Given the description of an element on the screen output the (x, y) to click on. 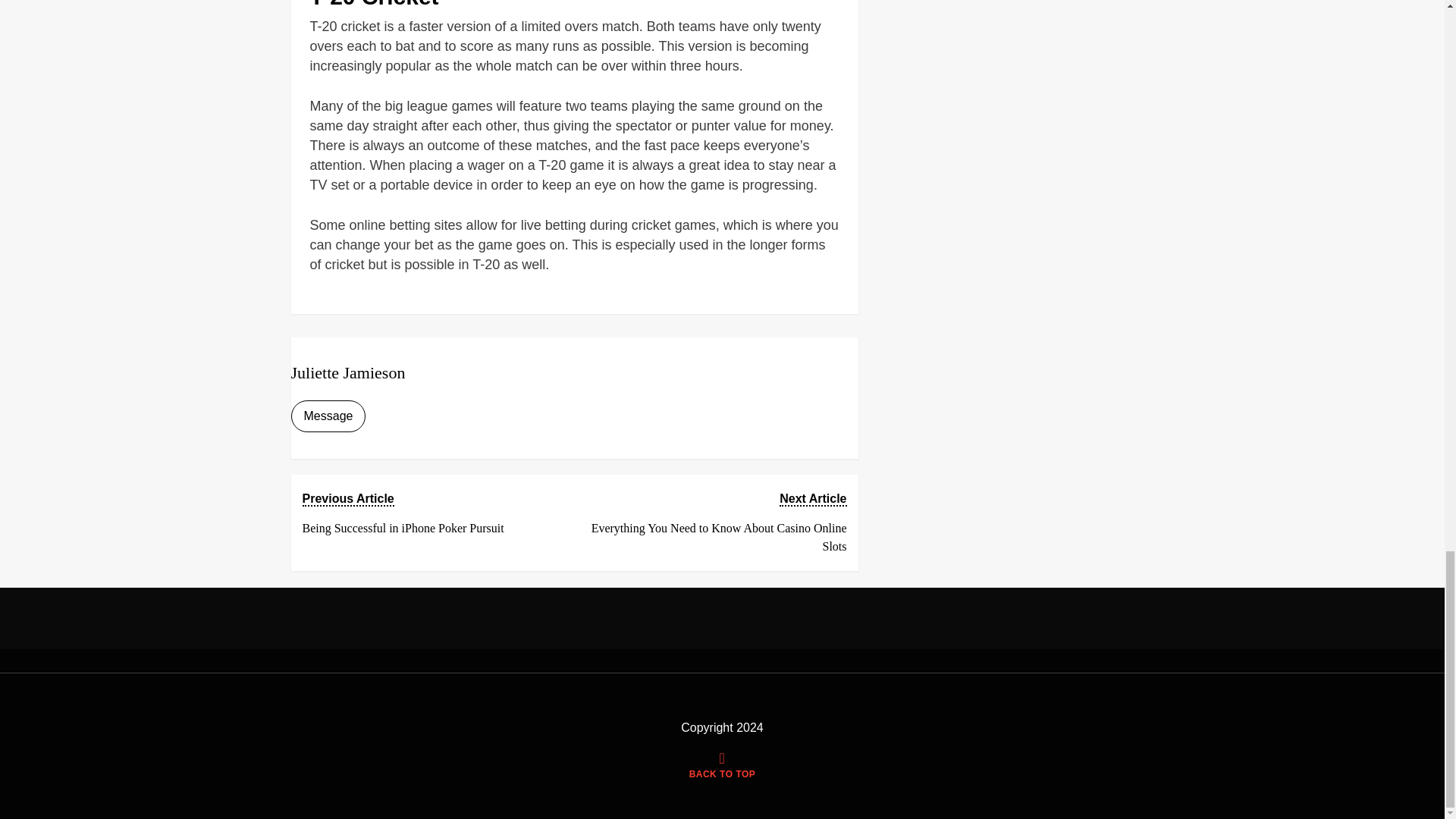
Message (328, 416)
Juliette Jamieson (348, 372)
BACK TO TOP (431, 513)
Posts by Juliette Jamieson (721, 766)
